Given the description of an element on the screen output the (x, y) to click on. 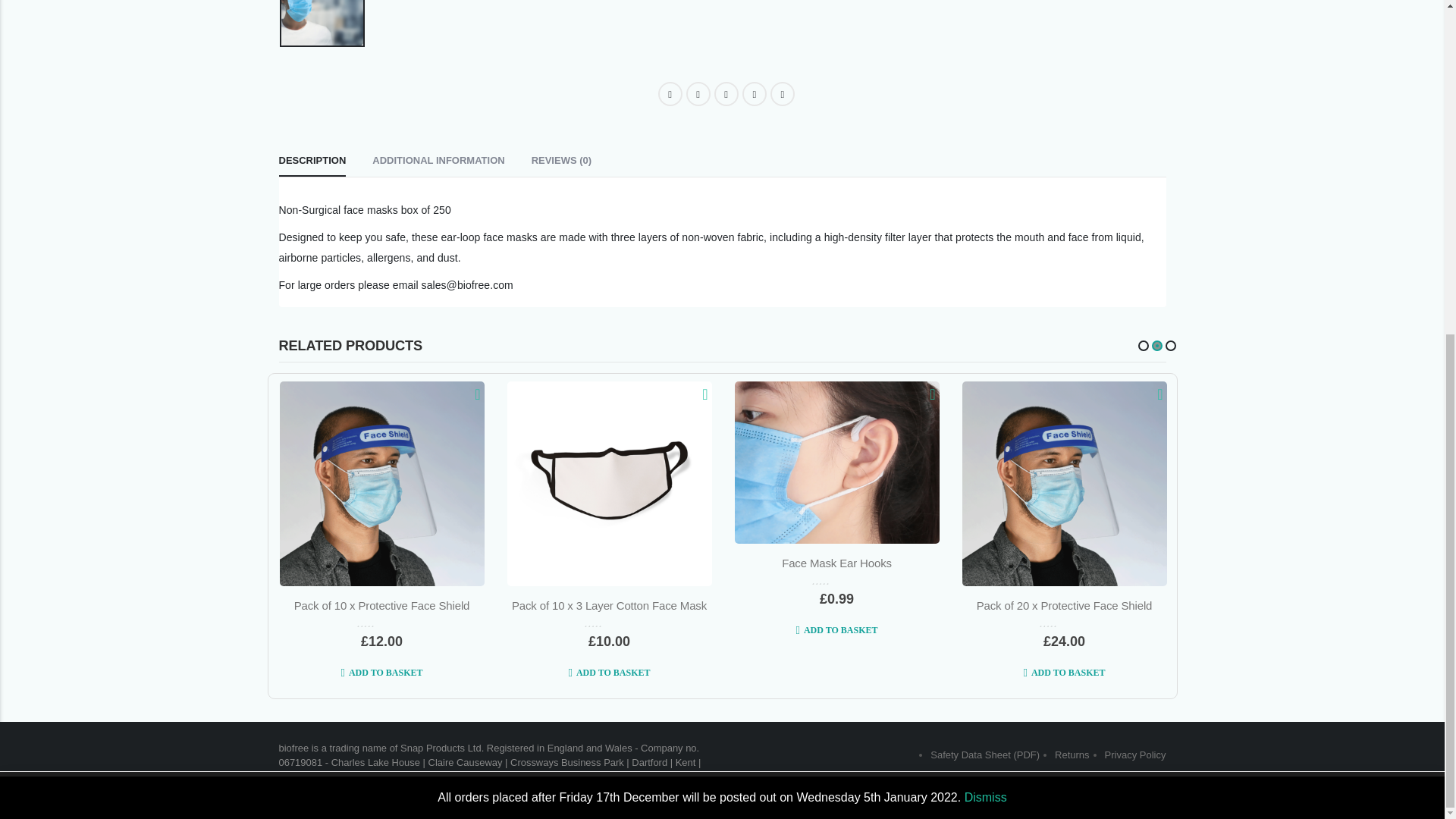
TWITTER (697, 93)
LINKEDIN (726, 93)
PayPal (912, 2)
EMAIL (782, 93)
FACEBOOK (670, 93)
PayPal (912, 31)
